Given the description of an element on the screen output the (x, y) to click on. 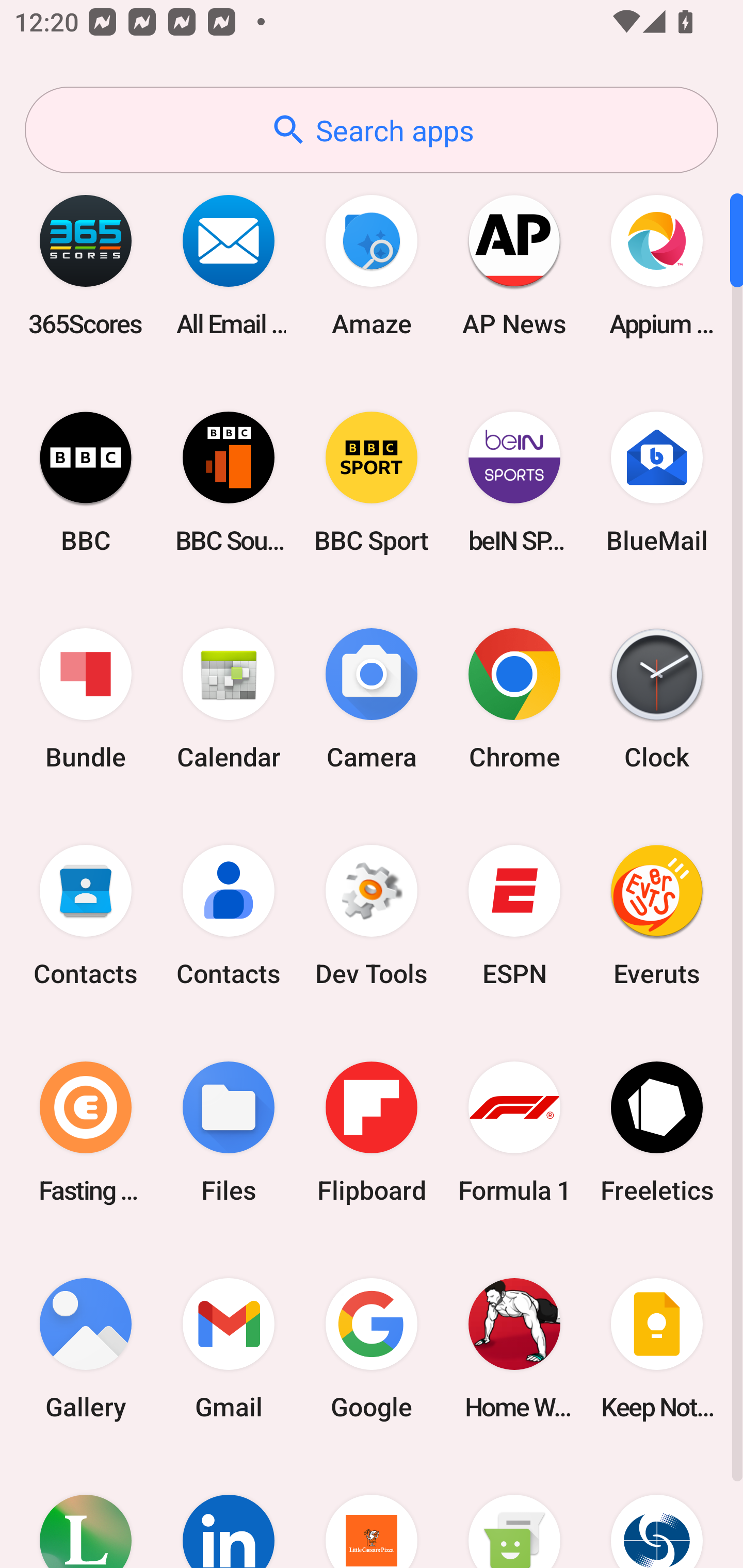
  Search apps (371, 130)
365Scores (85, 264)
All Email Connect (228, 264)
Amaze (371, 264)
AP News (514, 264)
Appium Settings (656, 264)
BBC (85, 482)
BBC Sounds (228, 482)
BBC Sport (371, 482)
beIN SPORTS (514, 482)
BlueMail (656, 482)
Bundle (85, 699)
Calendar (228, 699)
Camera (371, 699)
Chrome (514, 699)
Clock (656, 699)
Contacts (85, 915)
Contacts (228, 915)
Dev Tools (371, 915)
ESPN (514, 915)
Everuts (656, 915)
Fasting Coach (85, 1131)
Files (228, 1131)
Flipboard (371, 1131)
Formula 1 (514, 1131)
Freeletics (656, 1131)
Gallery (85, 1348)
Gmail (228, 1348)
Google (371, 1348)
Home Workout (514, 1348)
Keep Notes (656, 1348)
Lifesum (85, 1512)
LinkedIn (228, 1512)
Little Caesars Pizza (371, 1512)
Messaging (514, 1512)
MyObservatory (656, 1512)
